Given the description of an element on the screen output the (x, y) to click on. 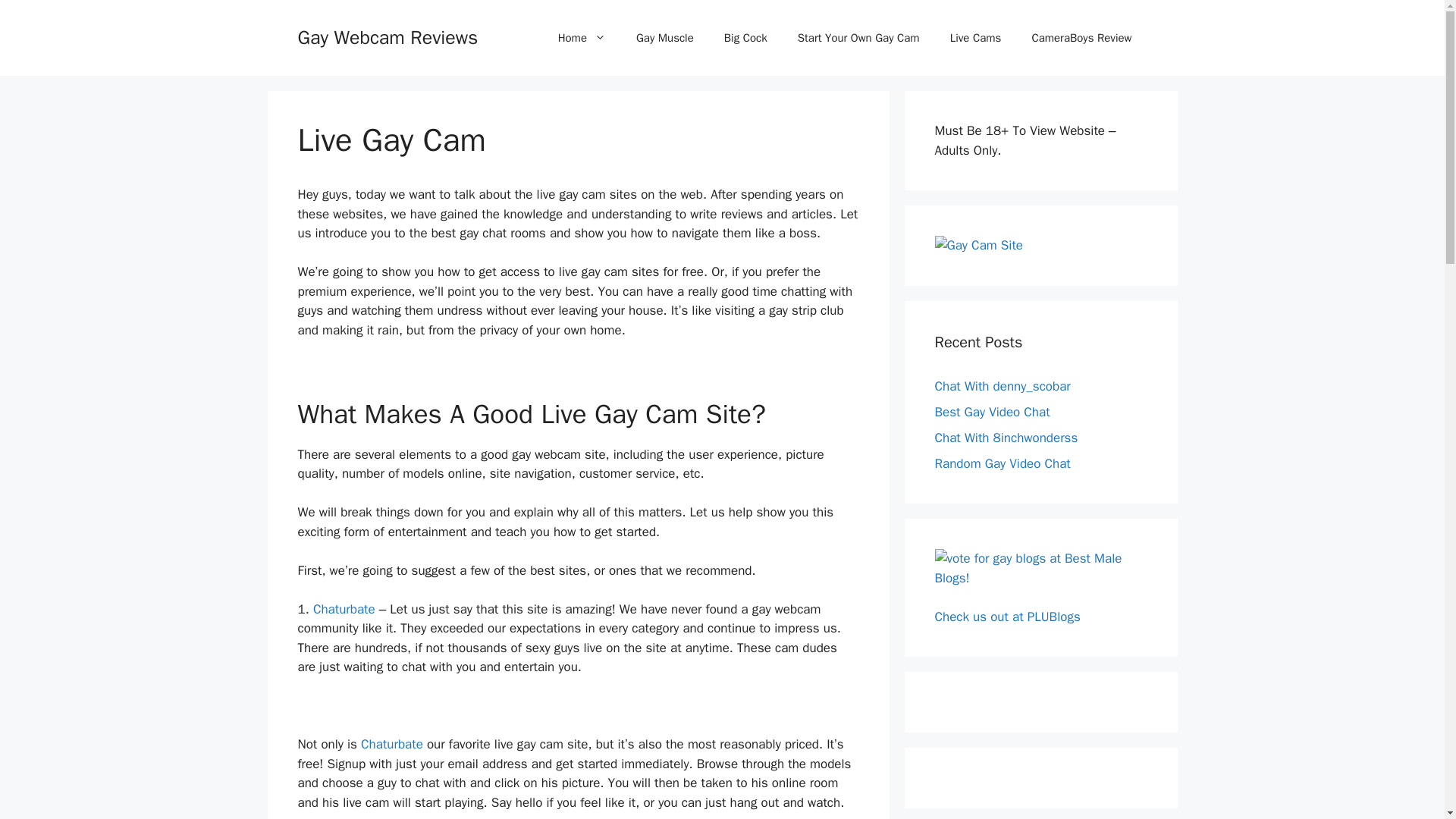
Home (582, 37)
Live Cams (975, 37)
Chaturbate (392, 744)
Best Gay Video Chat (991, 411)
Chat With 8inchwonderss (1005, 437)
Start Your Own Gay Cam (858, 37)
Check us out at PLUBlogs (1007, 616)
Gay Muscle (665, 37)
CameraBoys Review (1081, 37)
Gay Webcam Reviews (387, 37)
Big Cock (746, 37)
Random Gay Video Chat (1002, 462)
Chaturbate (344, 609)
